Given the description of an element on the screen output the (x, y) to click on. 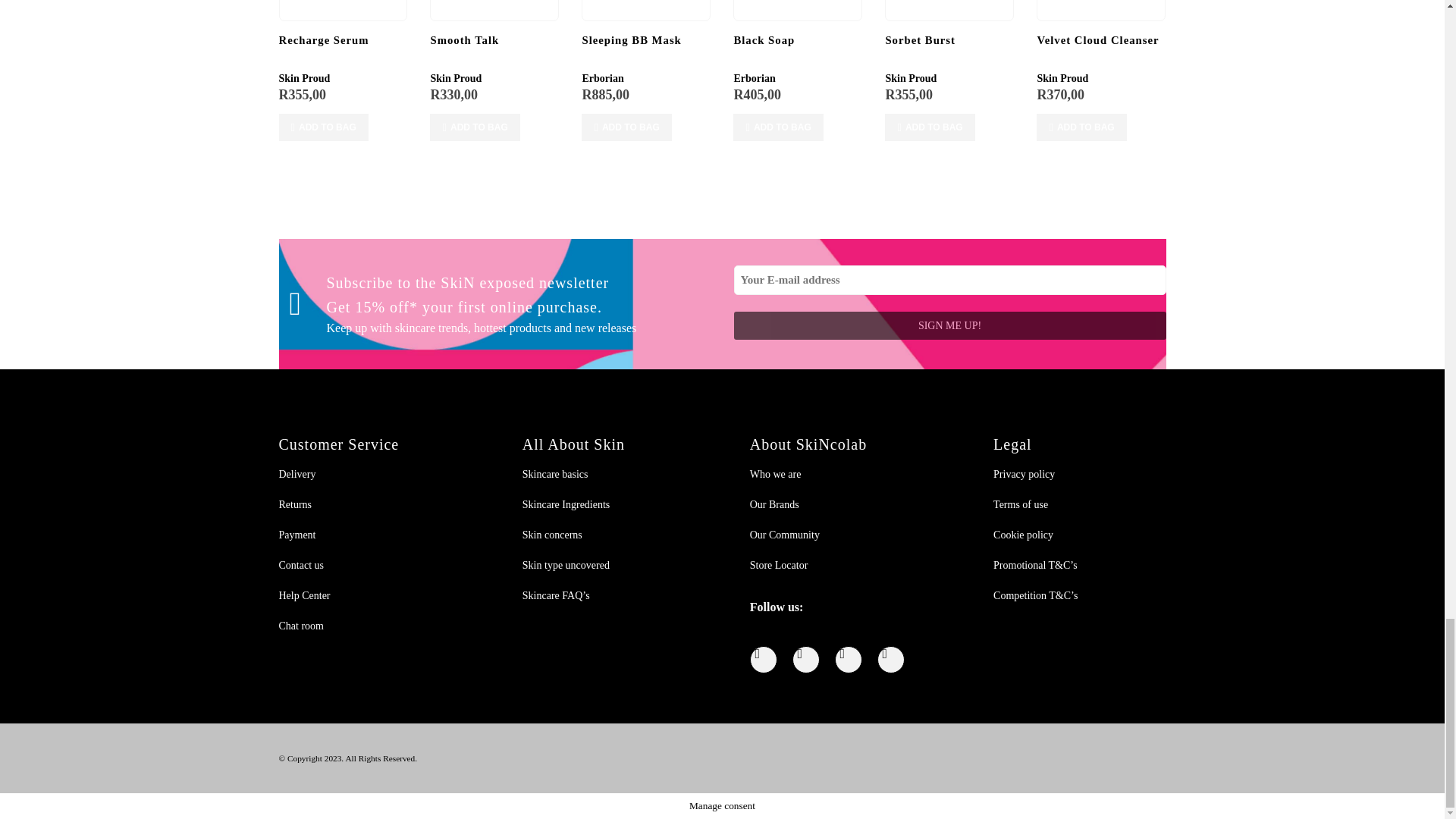
SIGN ME UP! (949, 325)
